Given the description of an element on the screen output the (x, y) to click on. 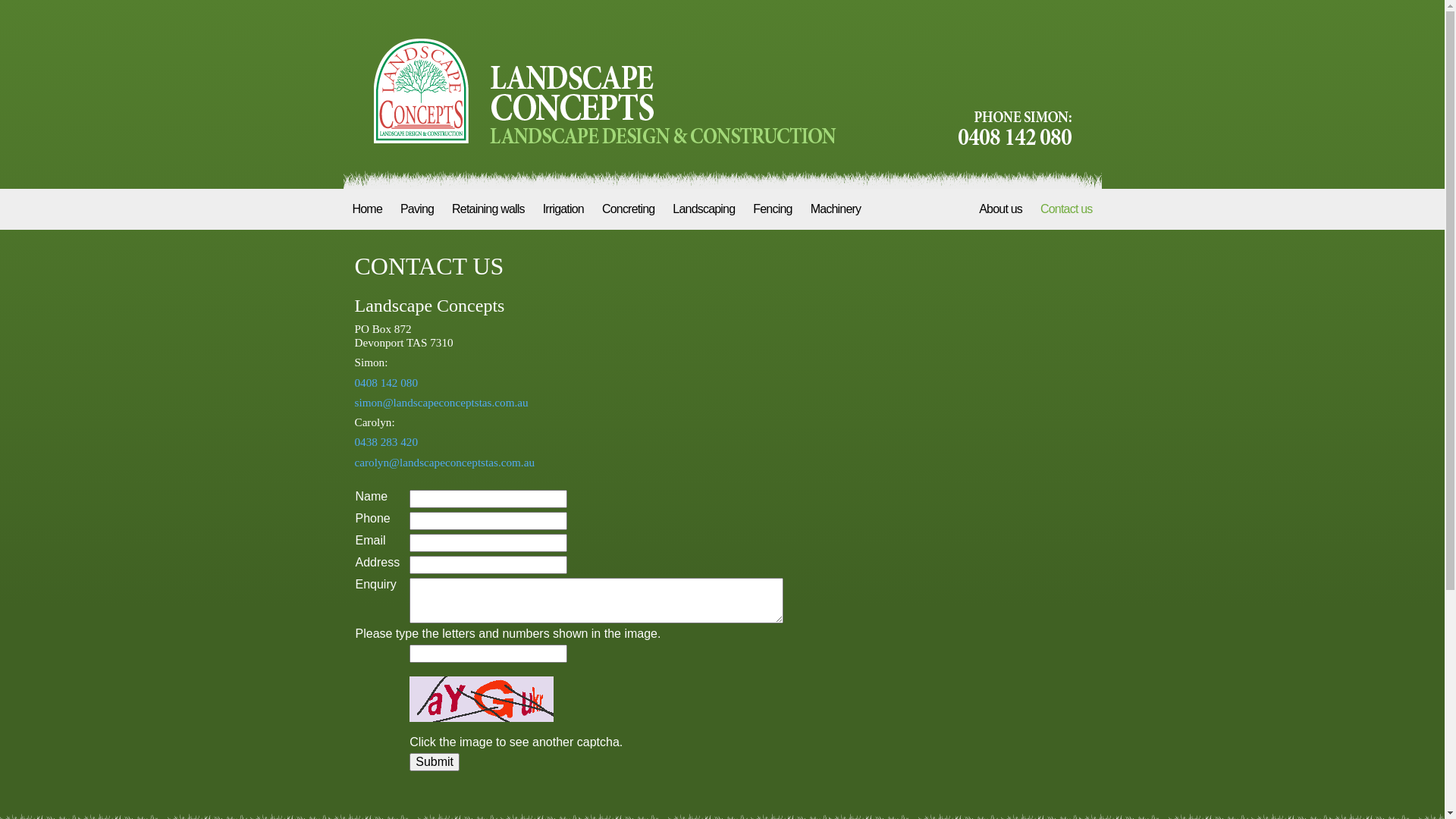
Paving Element type: text (416, 209)
Contact us Element type: text (1066, 209)
carolyn@landscapeconceptstas.com.au Element type: text (444, 461)
About us Element type: text (1000, 209)
Fencing Element type: text (771, 209)
Submit Element type: text (434, 762)
0408 142 080 Element type: text (386, 382)
0438 283 420 Element type: text (386, 441)
Landscaping Element type: text (703, 209)
Machinery Element type: text (835, 209)
Irrigation Element type: text (563, 209)
simon@landscapeconceptstas.com.au Element type: text (441, 401)
Concreting Element type: text (628, 209)
Home Element type: text (366, 209)
Retaining walls Element type: text (487, 209)
